Given the description of an element on the screen output the (x, y) to click on. 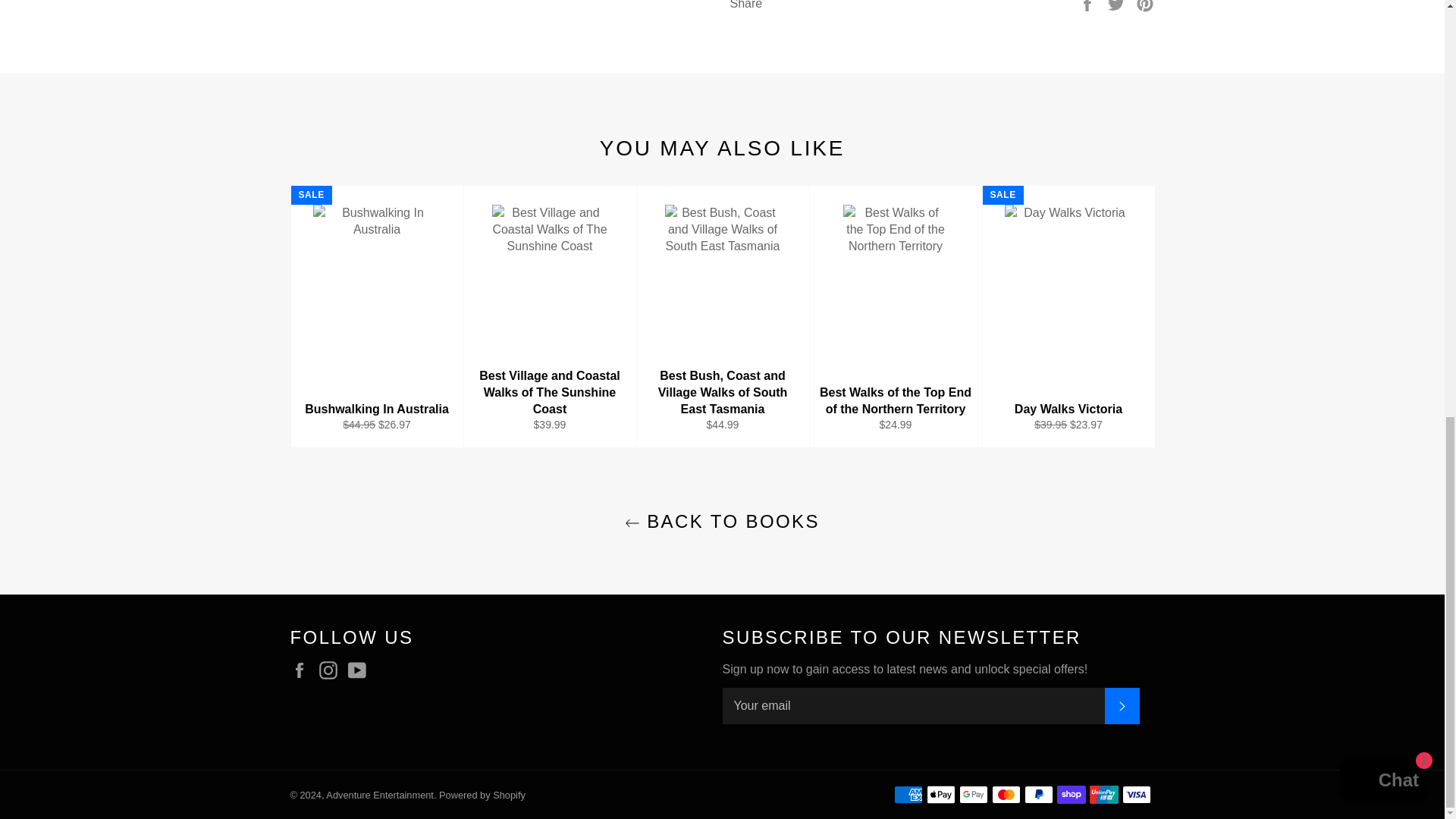
Adventure Entertainment on Instagram (331, 669)
Adventure Entertainment on Facebook (302, 669)
Adventure Entertainment on YouTube (360, 669)
Tweet on Twitter (1117, 4)
Share on Facebook (1088, 4)
Pin on Pinterest (1144, 4)
